Given the description of an element on the screen output the (x, y) to click on. 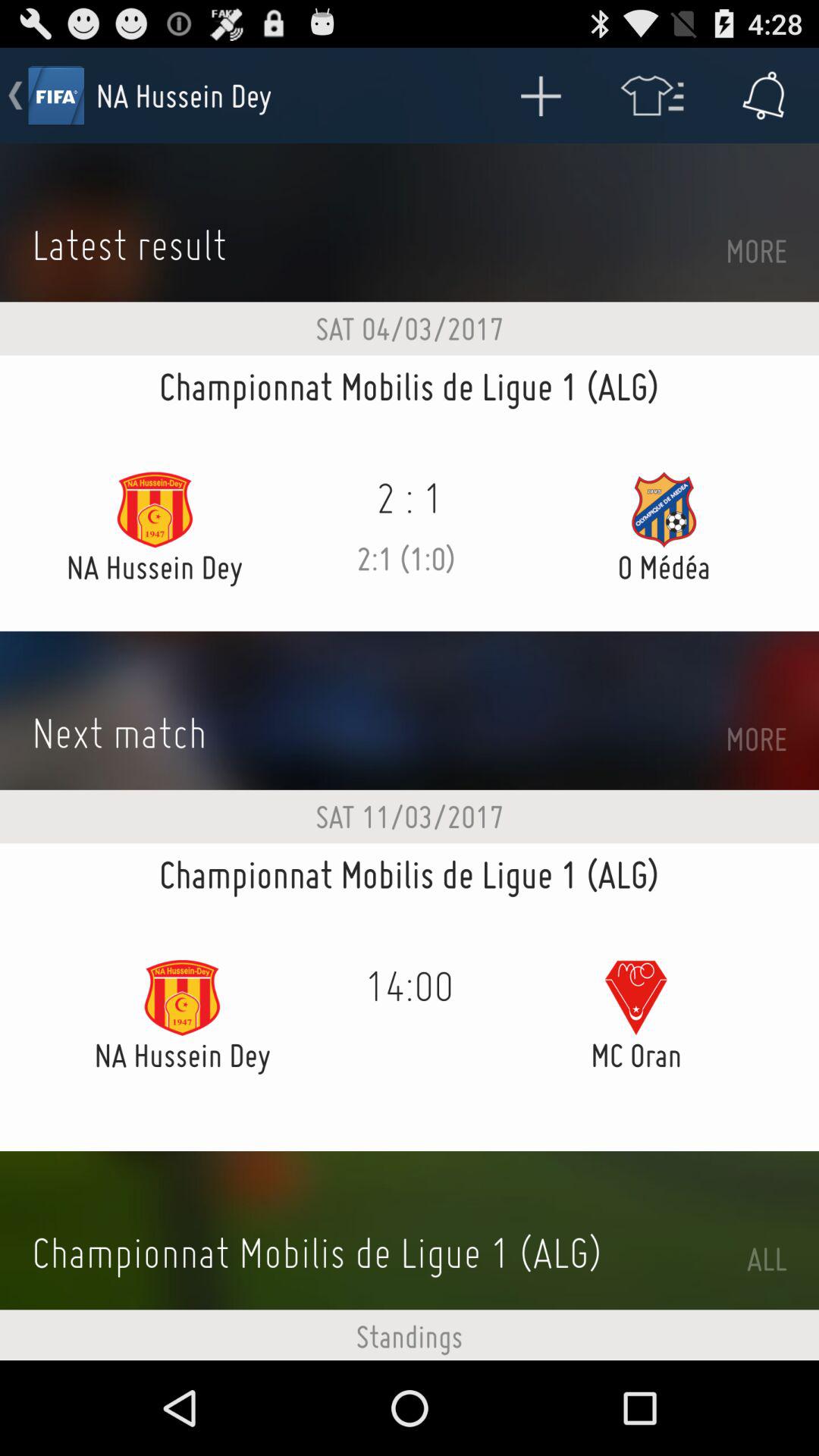
turn off the app to the right of the na hussein dey (540, 95)
